Given the description of an element on the screen output the (x, y) to click on. 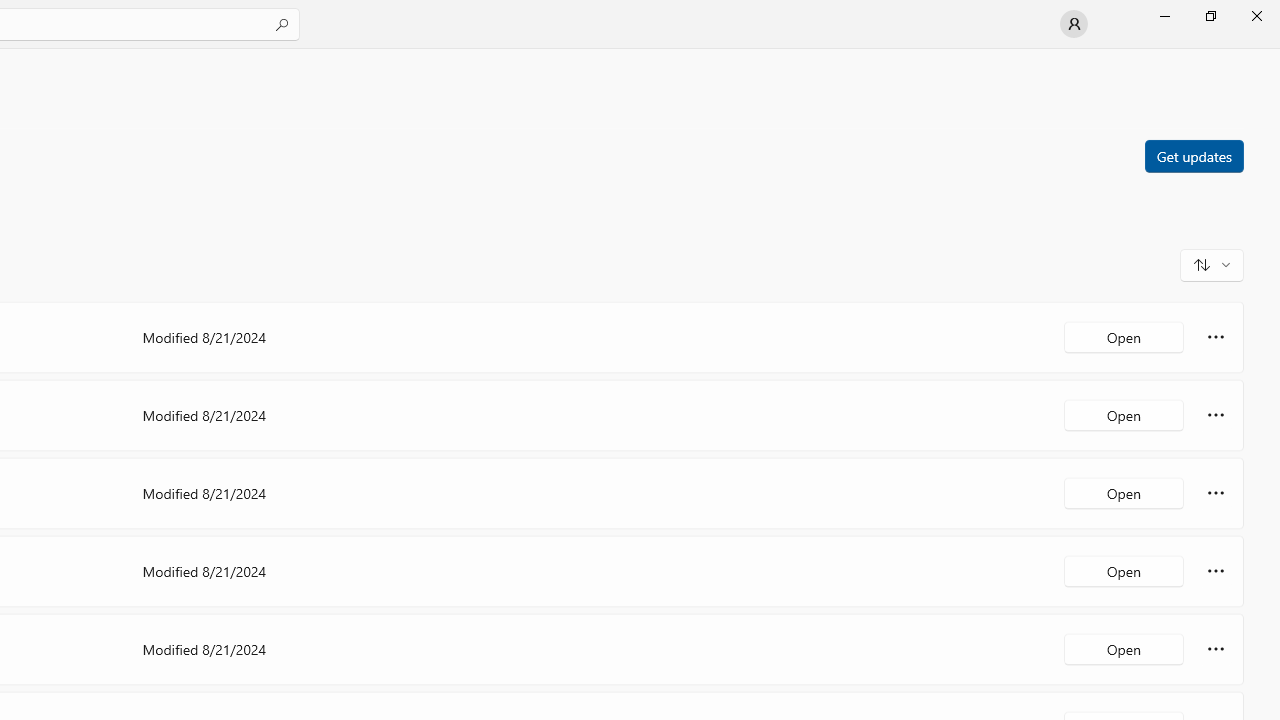
More options (1215, 648)
Get updates (1193, 155)
Open (1123, 648)
Sort and filter (1212, 263)
